Given the description of an element on the screen output the (x, y) to click on. 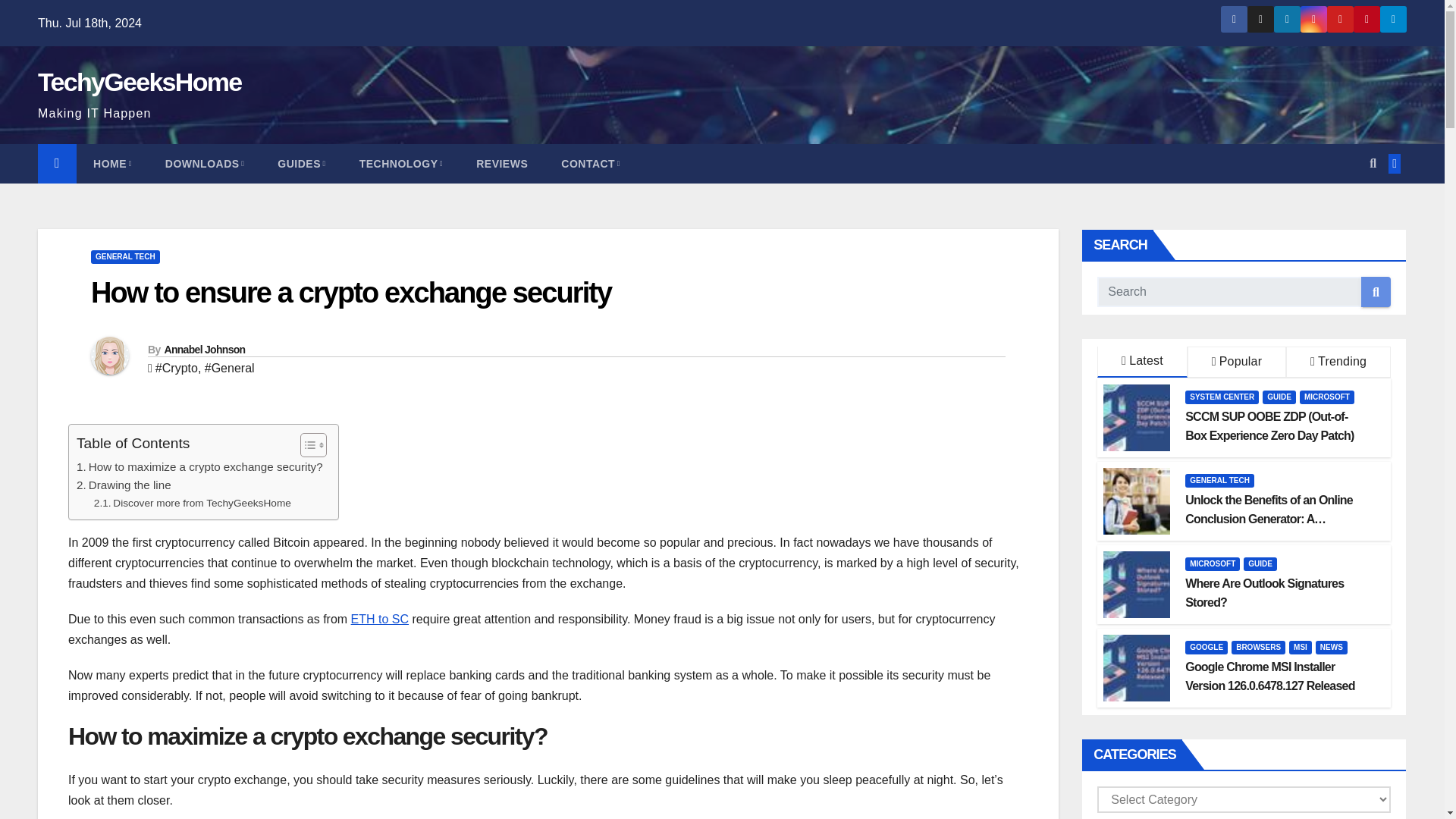
Downloads (205, 163)
DOWNLOADS (205, 163)
HOME (112, 163)
Home (112, 163)
TechyGeeksHome (139, 81)
